Given the description of an element on the screen output the (x, y) to click on. 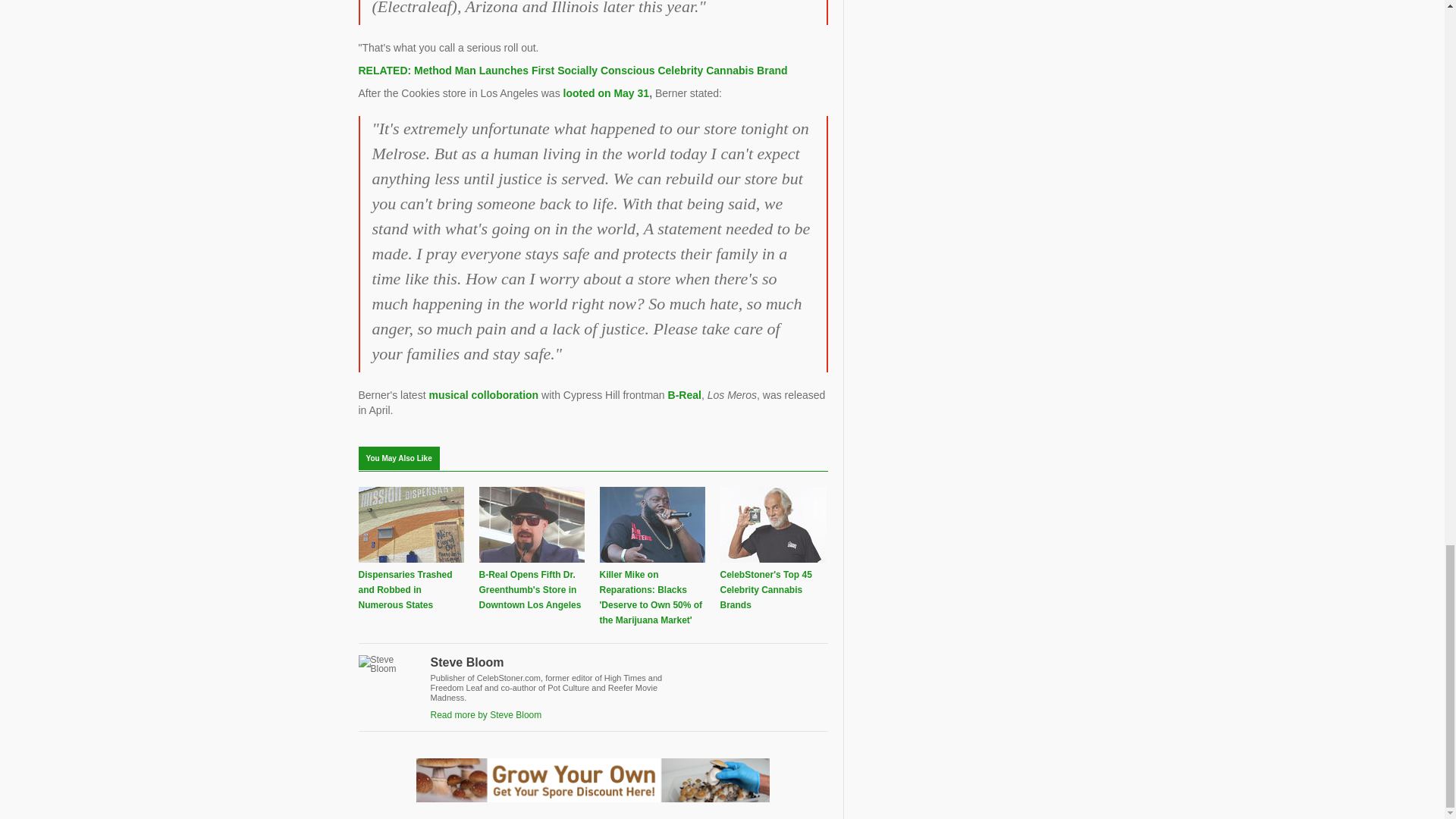
celebstoner.com (684, 395)
variety.com (484, 395)
celebstoner.com (572, 70)
celebstoner.com (606, 92)
